Given the description of an element on the screen output the (x, y) to click on. 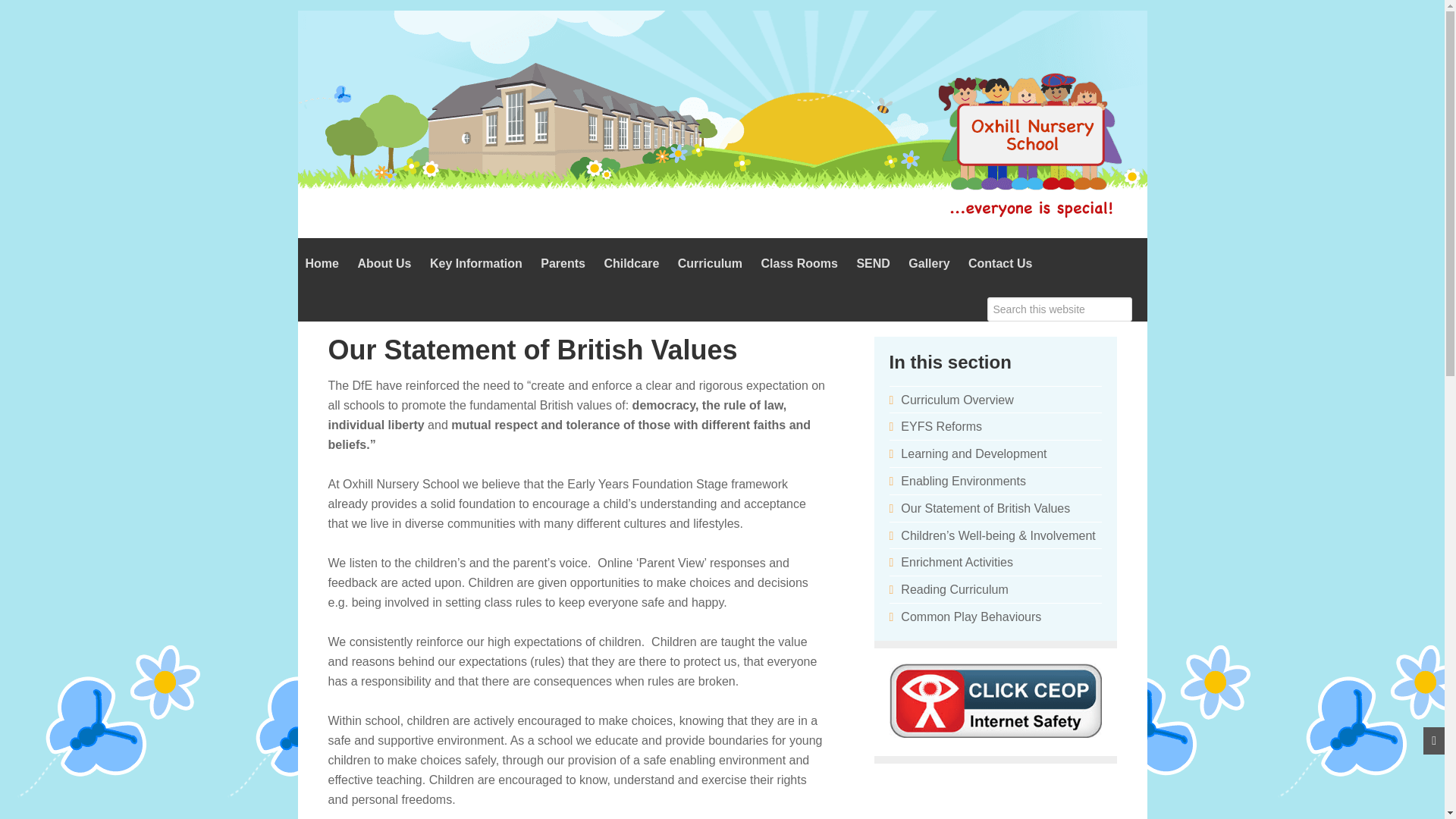
About Us (384, 264)
Key Information (475, 264)
Parents (562, 264)
Curriculum (709, 264)
Childcare (630, 264)
Home (321, 264)
